Given the description of an element on the screen output the (x, y) to click on. 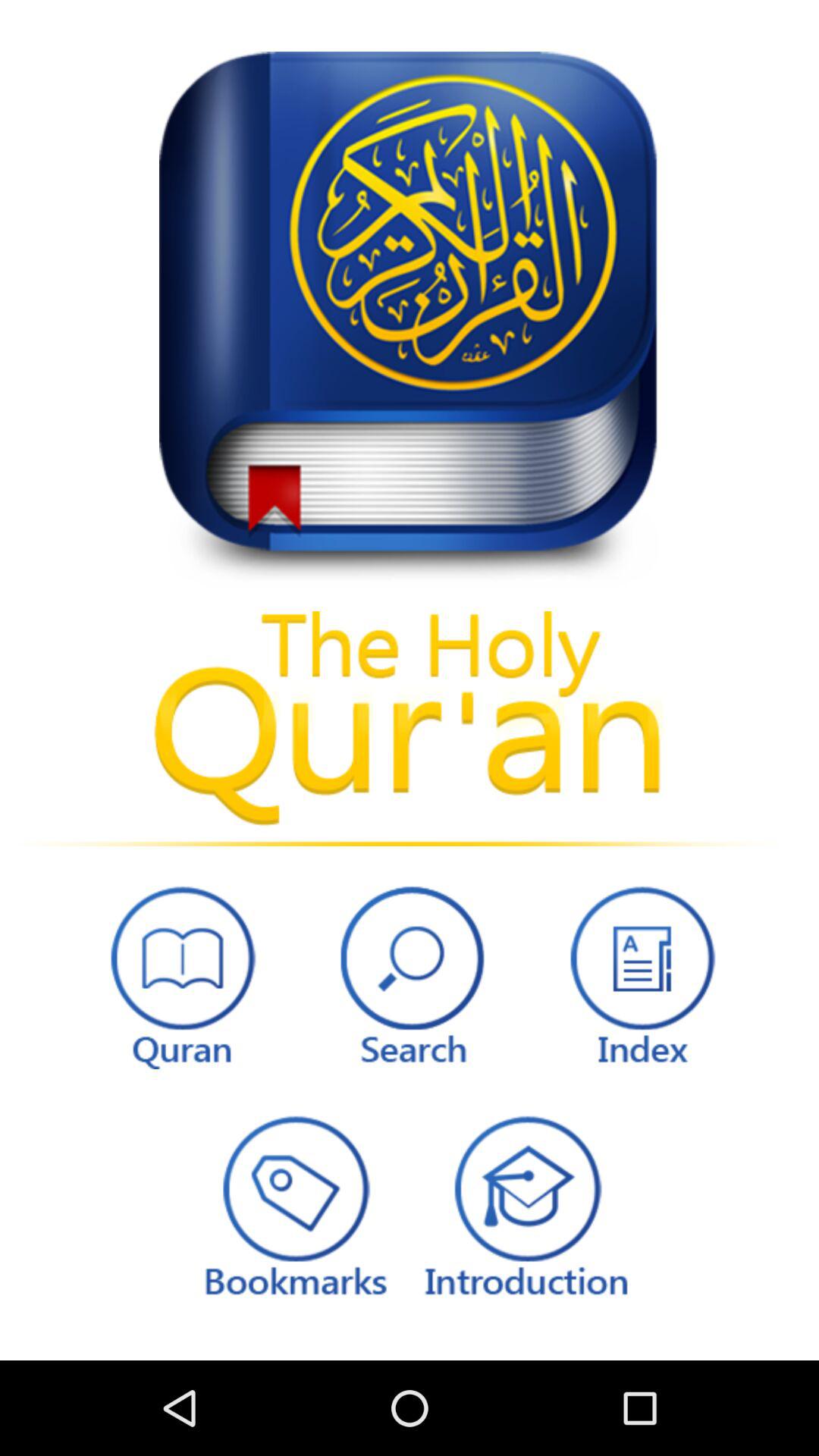
search bar (409, 973)
